Given the description of an element on the screen output the (x, y) to click on. 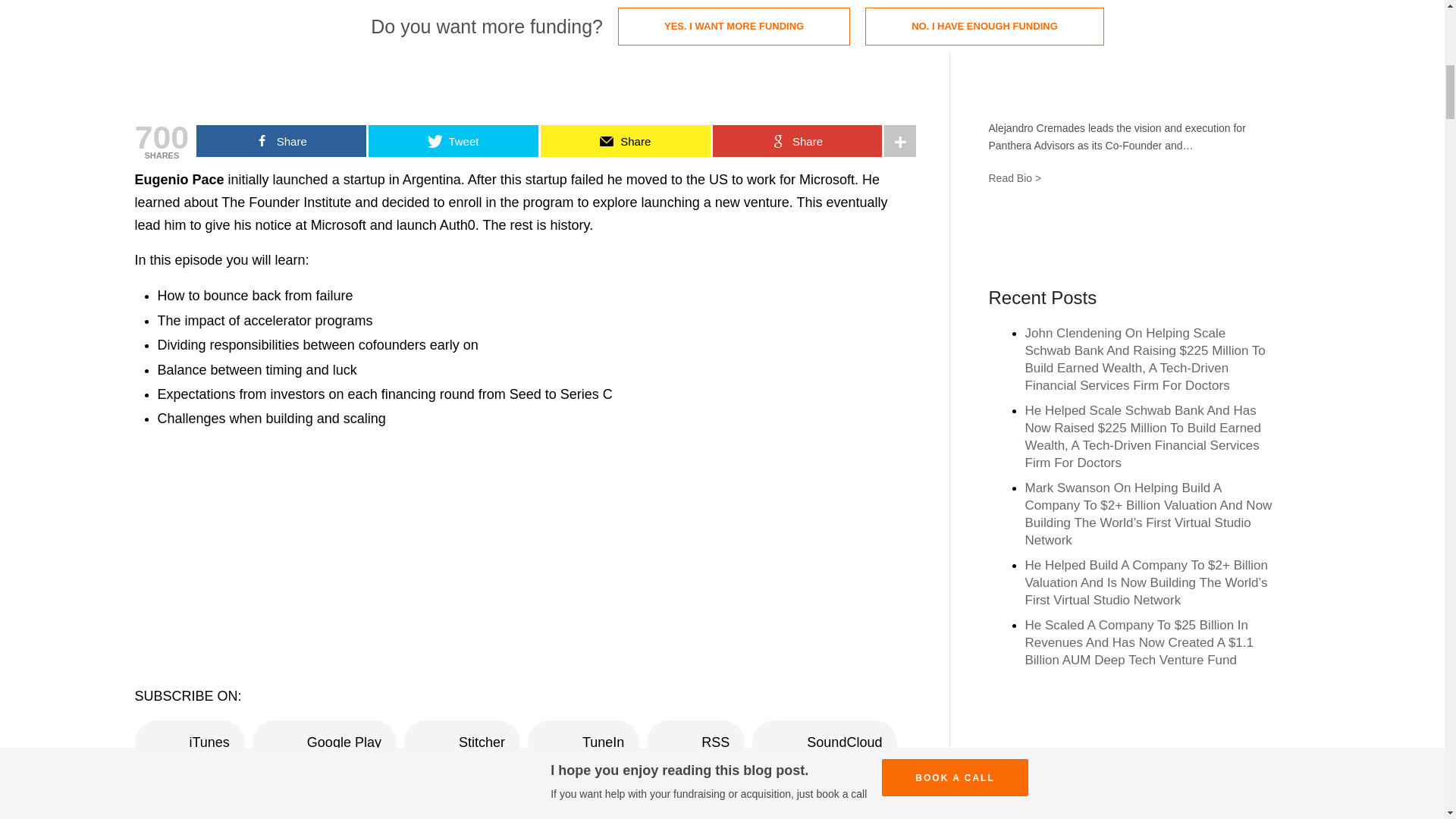
Share (797, 141)
Linkedin Connect (1125, 236)
Linkedin Connect (1125, 237)
Share (281, 141)
Share (625, 141)
Tweet (453, 141)
